Given the description of an element on the screen output the (x, y) to click on. 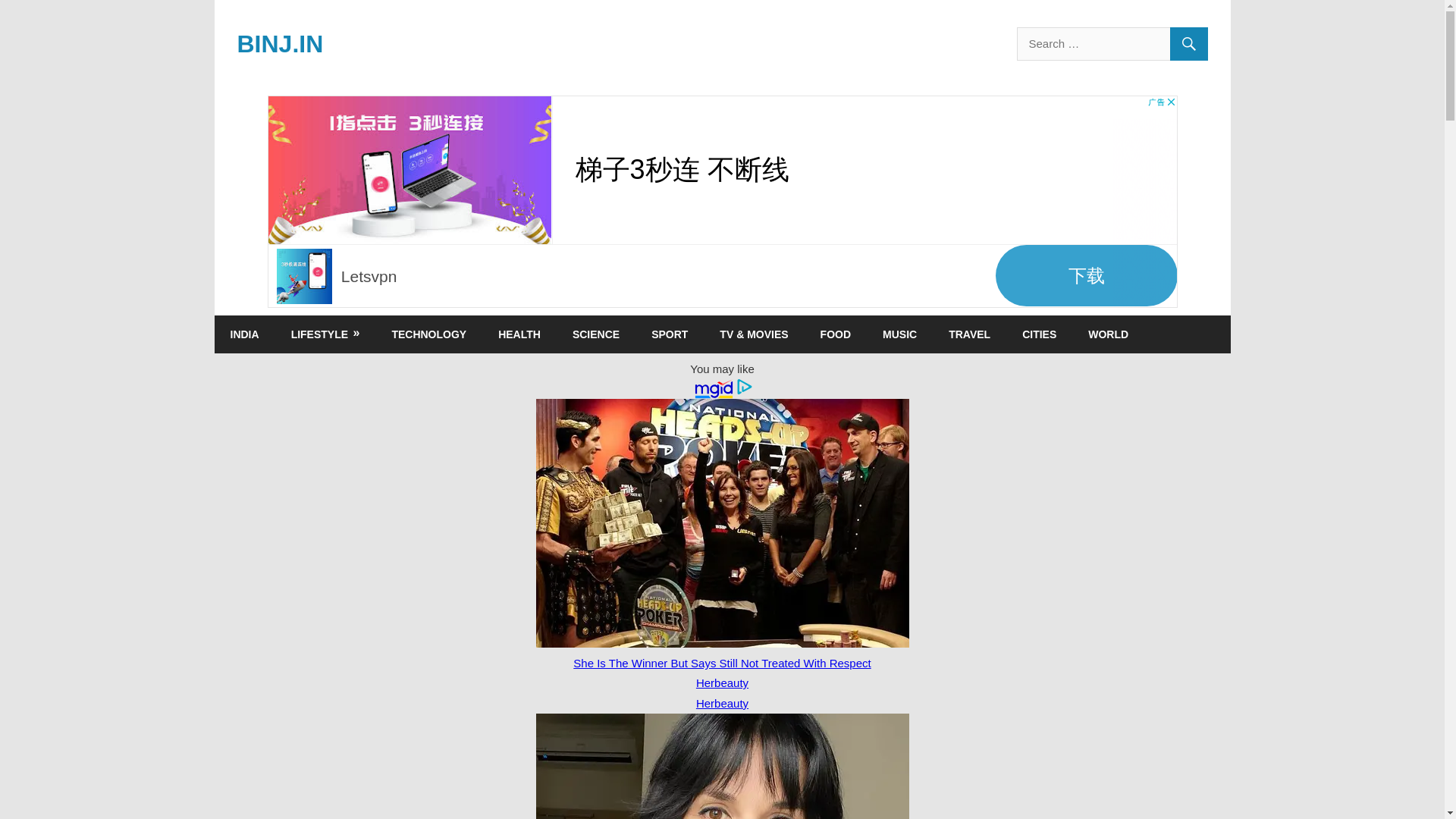
CITIES (1038, 333)
HEALTH (518, 333)
SPORT (668, 333)
FOOD (835, 333)
INDIA (244, 333)
Search for: (1111, 43)
TRAVEL (969, 333)
BINJ.IN (279, 43)
WORLD (1107, 333)
SCIENCE (595, 333)
LIFESTYLE (325, 333)
MUSIC (899, 333)
TECHNOLOGY (428, 333)
